Given the description of an element on the screen output the (x, y) to click on. 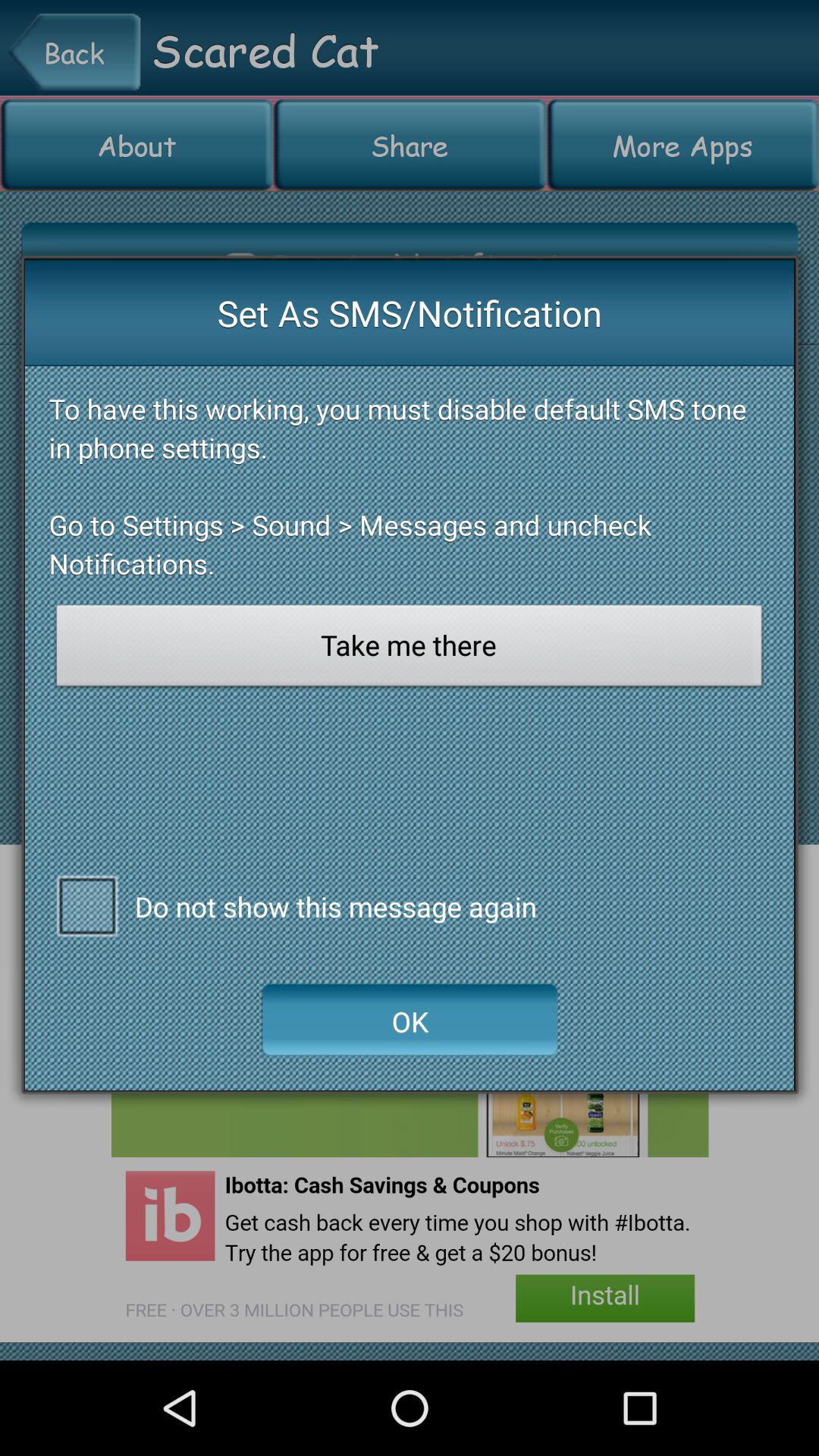
do n't show message checkbox (86, 904)
